Given the description of an element on the screen output the (x, y) to click on. 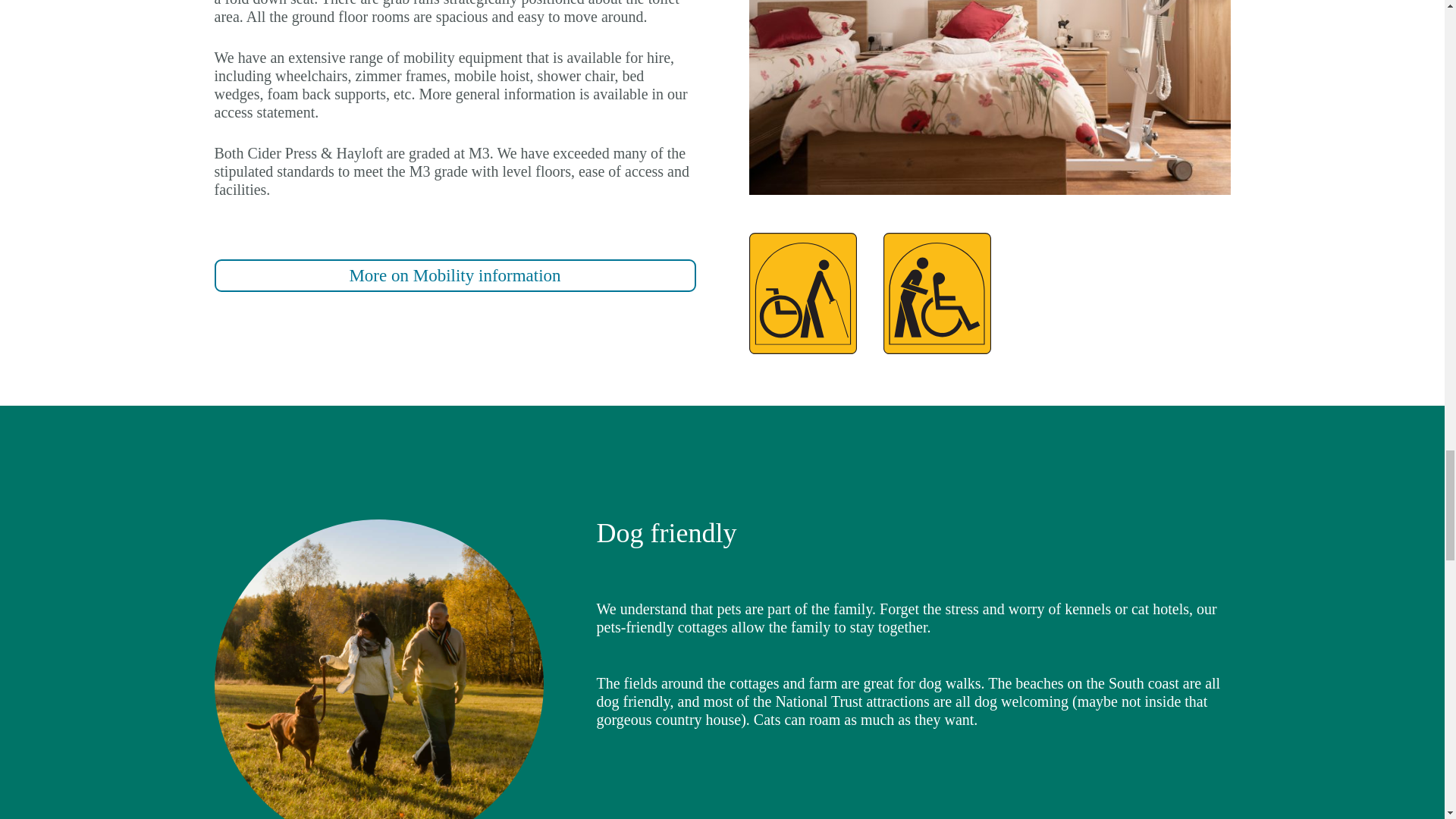
More on Mobility information (454, 275)
